Given the description of an element on the screen output the (x, y) to click on. 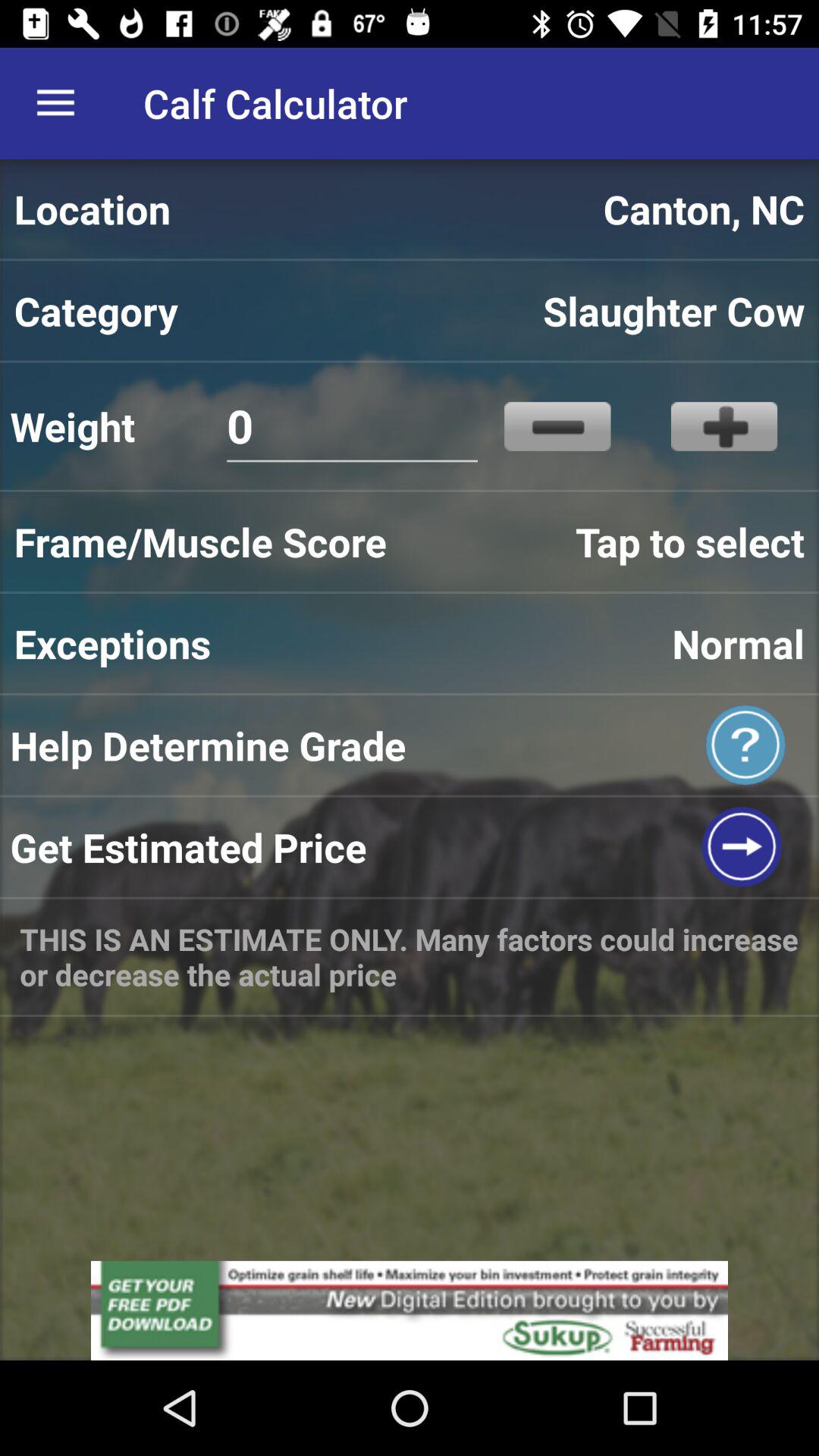
icon (557, 425)
